Given the description of an element on the screen output the (x, y) to click on. 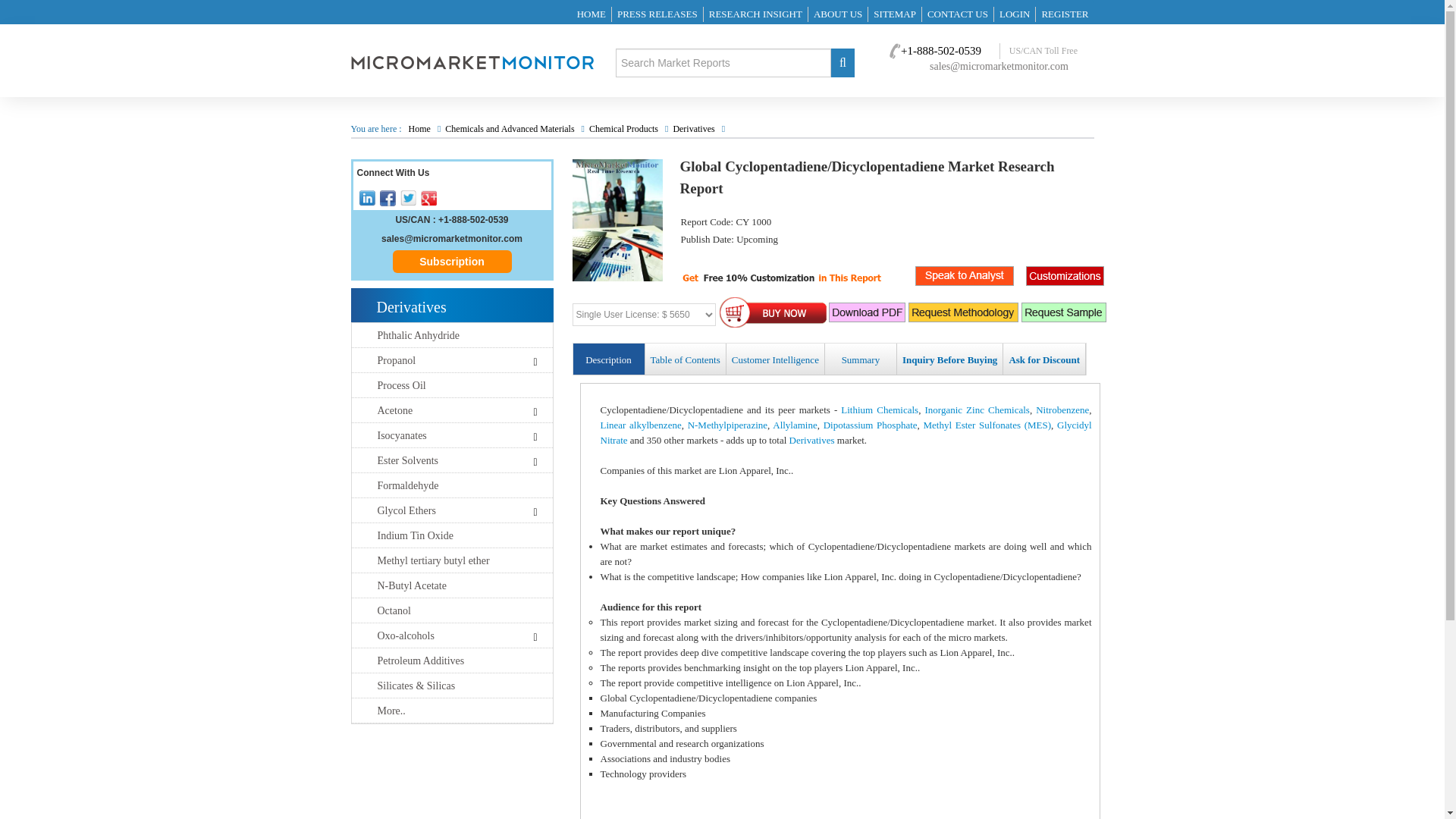
Subscription (452, 261)
Nitrobenzene (1062, 409)
Home (419, 128)
ABOUT US (837, 14)
Chemicals and Advanced Materials (510, 128)
Chemical Products (623, 128)
N-Methylpiperazine (727, 424)
Glycidyl Nitrate (845, 432)
Linear alkylbenzene (640, 424)
CONTACT US (957, 14)
